Given the description of an element on the screen output the (x, y) to click on. 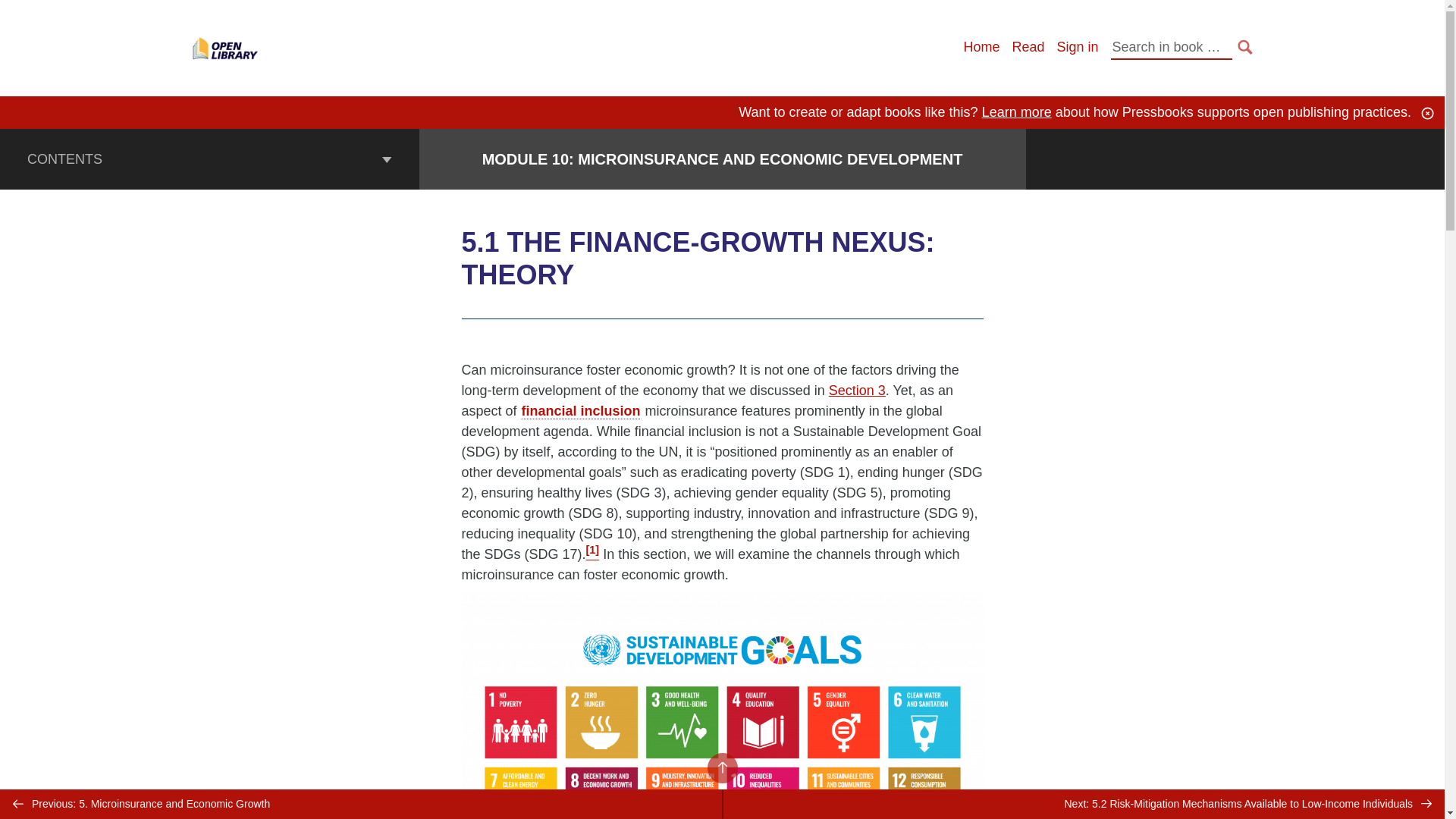
Read (1027, 46)
CONTENTS (209, 158)
MODULE 10: MICROINSURANCE AND ECONOMIC DEVELOPMENT (721, 159)
financial inclusion (581, 410)
Learn more (1016, 111)
Home (980, 46)
Previous: 5. Microinsurance and Economic Growth (361, 804)
BACK TO TOP (721, 767)
Section 3 (856, 390)
Sign in (1077, 46)
Previous: 5. Microinsurance and Economic Growth (361, 804)
